Given the description of an element on the screen output the (x, y) to click on. 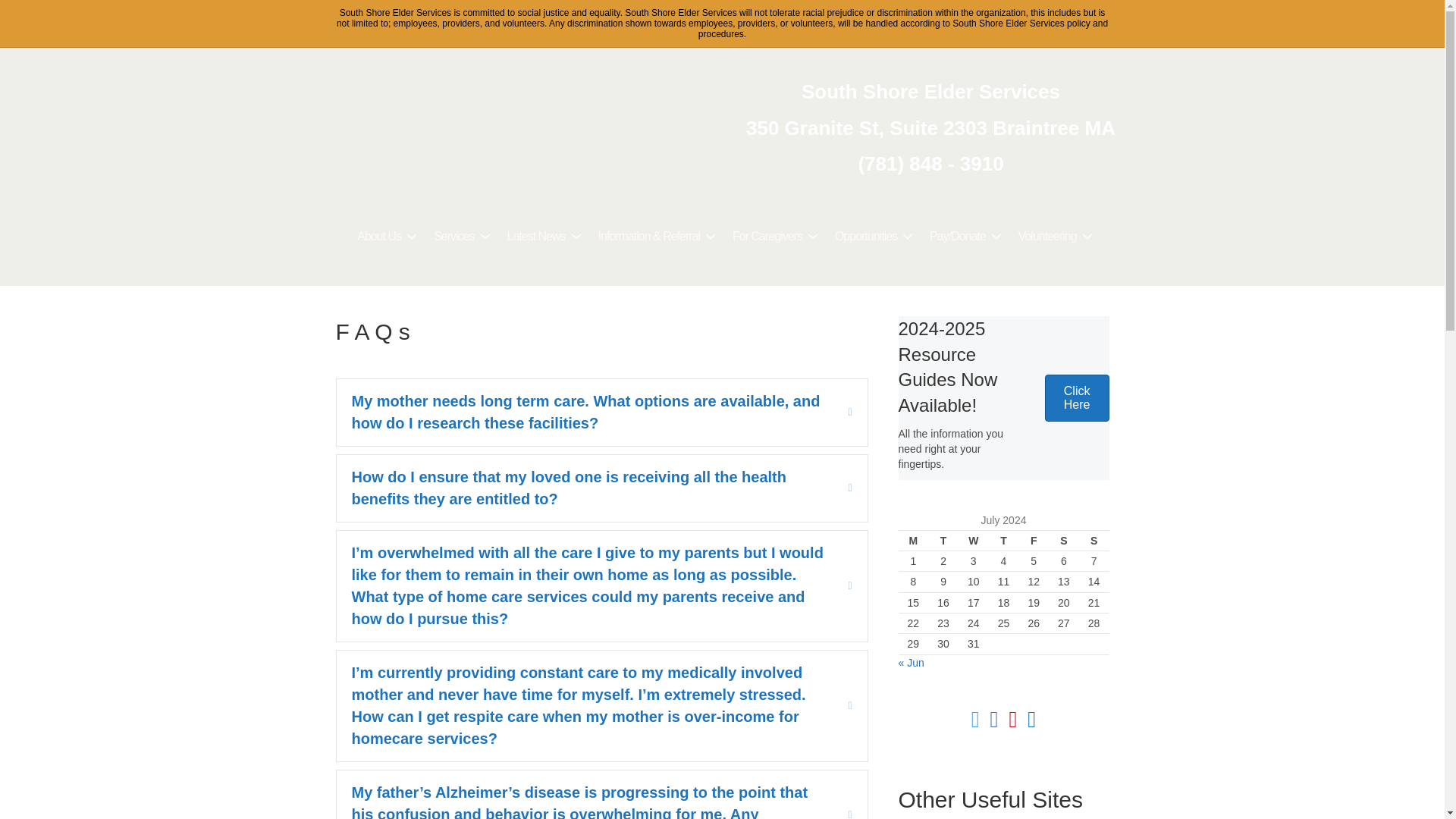
For Caregivers (773, 236)
About Us (384, 236)
Monday (913, 540)
Services (459, 236)
Latest News (541, 236)
